Given the description of an element on the screen output the (x, y) to click on. 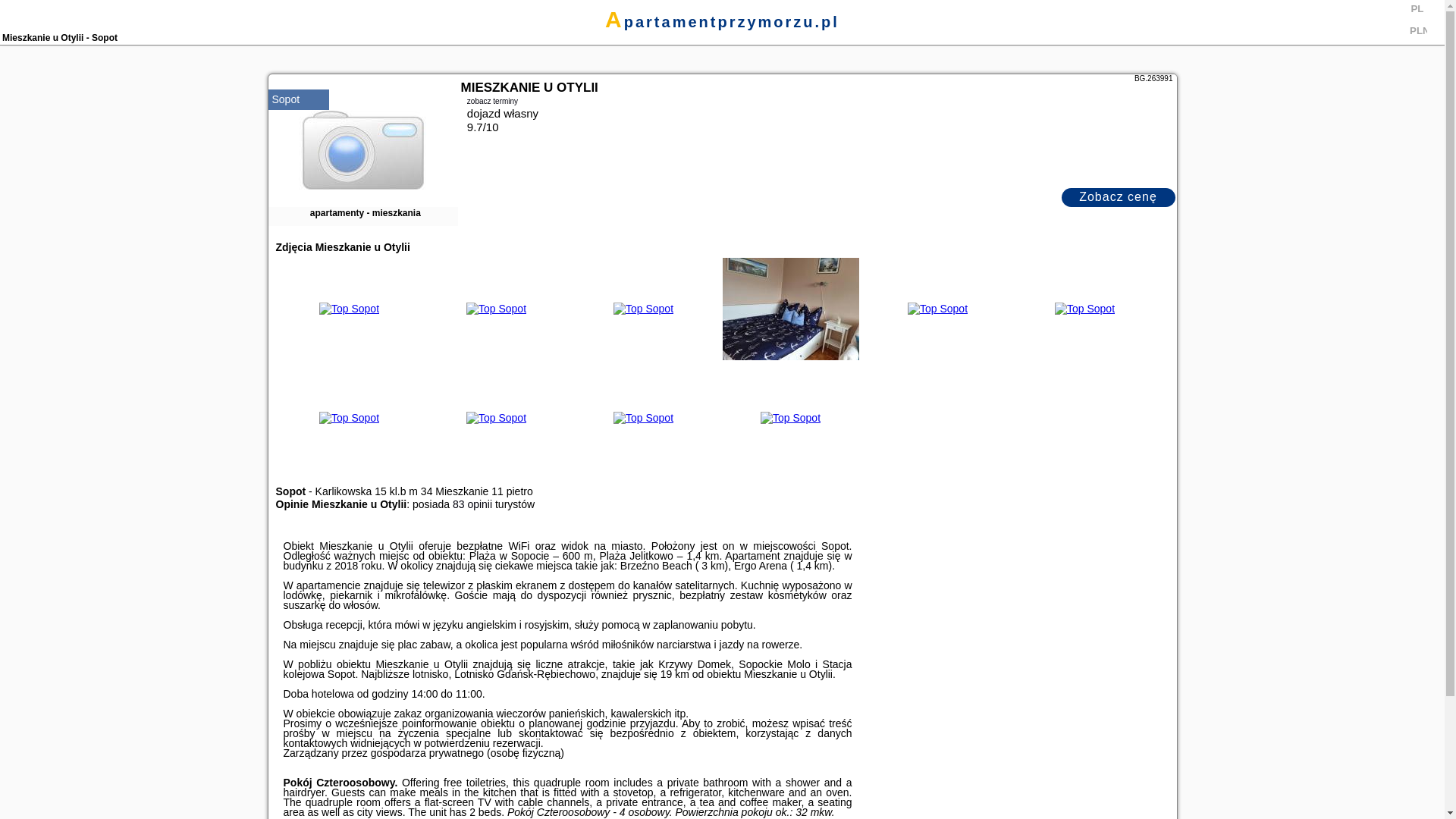
Top Sopot (348, 308)
Urlop Wczasy Mieszkanie u Otylii Polska (1085, 308)
Top Sopot (790, 308)
home page (722, 21)
Urlop Wczasy Mieszkanie u Otylii Polska (350, 308)
Urlop Wczasy Mieszkanie u Otylii Polska (791, 308)
zobacz terminy (492, 99)
apartamentprzymorzu.pl (722, 21)
oferty Sopot (284, 99)
Top Sopot (1084, 308)
Urlop Wczasy Mieszkanie u Otylii Polska (644, 308)
Sopot (284, 99)
Top Sopot (937, 308)
Urlop Wczasy Mieszkanie u Otylii Polska (497, 308)
zobacz terminy (817, 100)
